Given the description of an element on the screen output the (x, y) to click on. 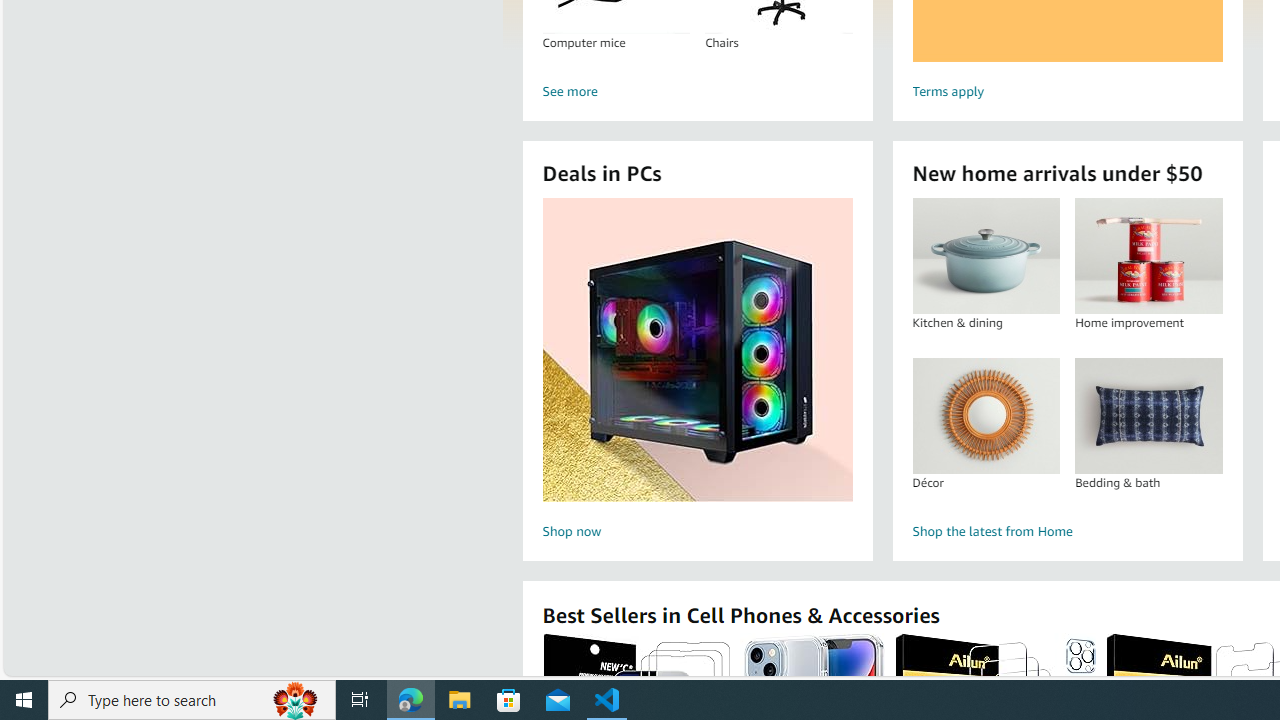
Kitchen & dining (985, 256)
Deals in PCs Shop now (697, 371)
Kitchen & dining (986, 256)
Home improvement (1148, 256)
Home improvement (1148, 256)
Shop the latest from Home (1066, 532)
Deals in PCs (697, 349)
Bedding & bath (1148, 415)
Bedding & bath (1148, 415)
